Given the description of an element on the screen output the (x, y) to click on. 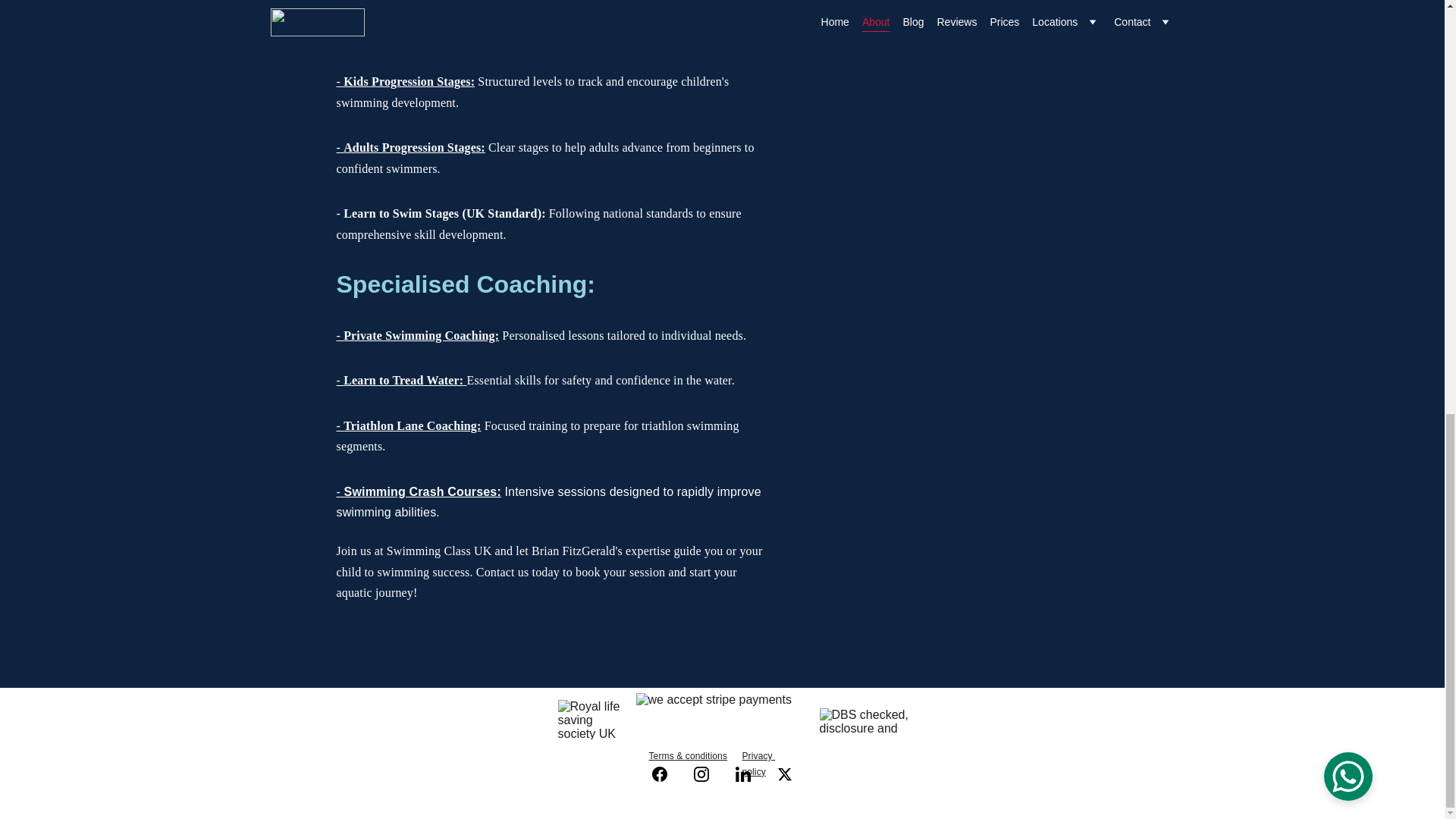
Royal life saving society UK (590, 719)
Go to Twitter page (784, 774)
we accept stripe payments (721, 718)
Go to Instagram page (708, 774)
Go to Linkedin-in page (750, 774)
DBS checked, disclosure and barring service (864, 722)
Go to Facebook page (667, 774)
